Given the description of an element on the screen output the (x, y) to click on. 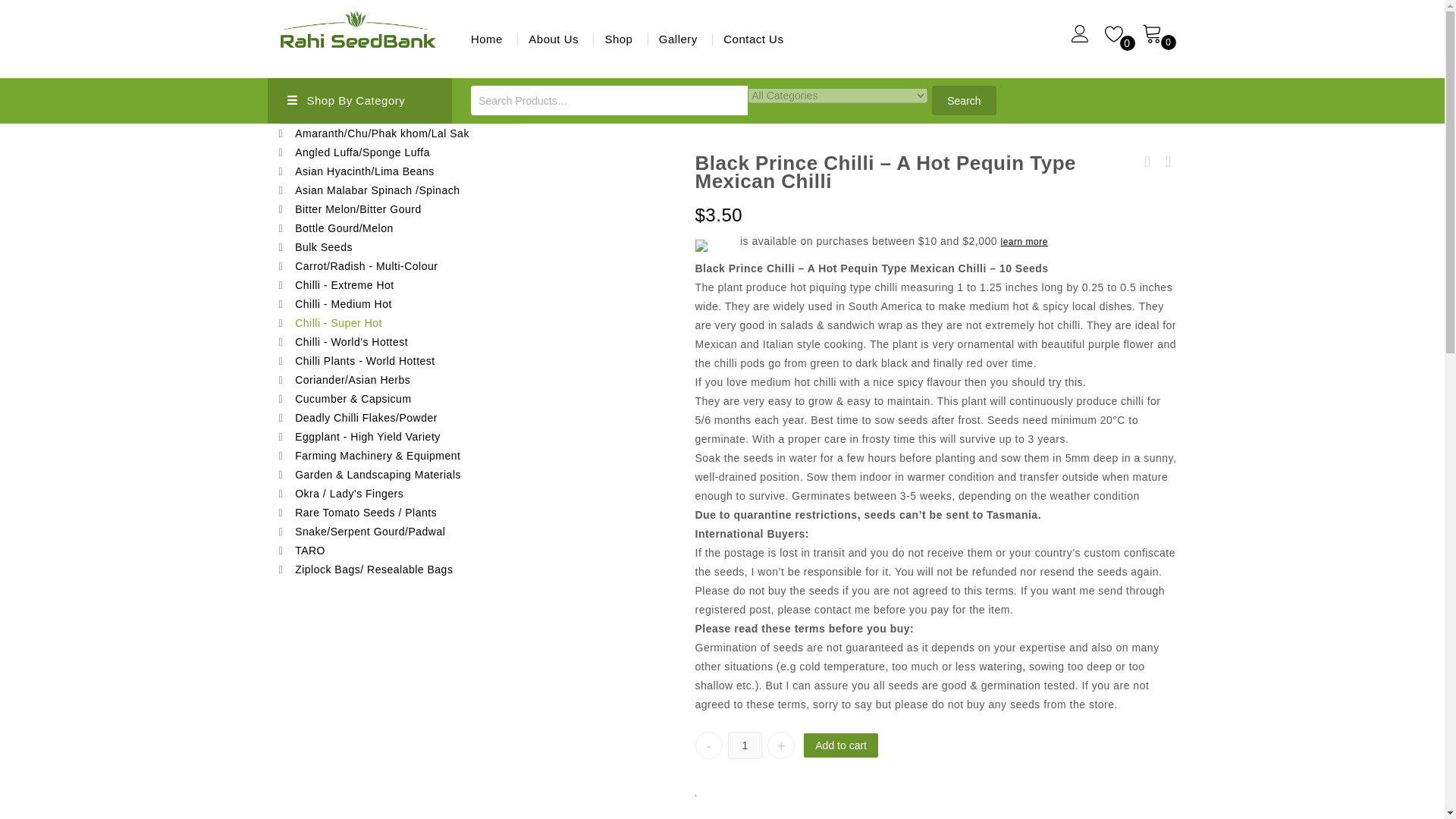
Chilli - Extreme Hot (398, 285)
1 (744, 745)
Gallery (678, 38)
Search (963, 100)
Chilli - World's Hottest (398, 342)
Rahi SeedBank (356, 31)
Eggplant - High Yield Variety (398, 436)
Chilli - Medium Hot (398, 303)
Chilli Plants - World Hottest (398, 361)
Qty (744, 745)
